Given the description of an element on the screen output the (x, y) to click on. 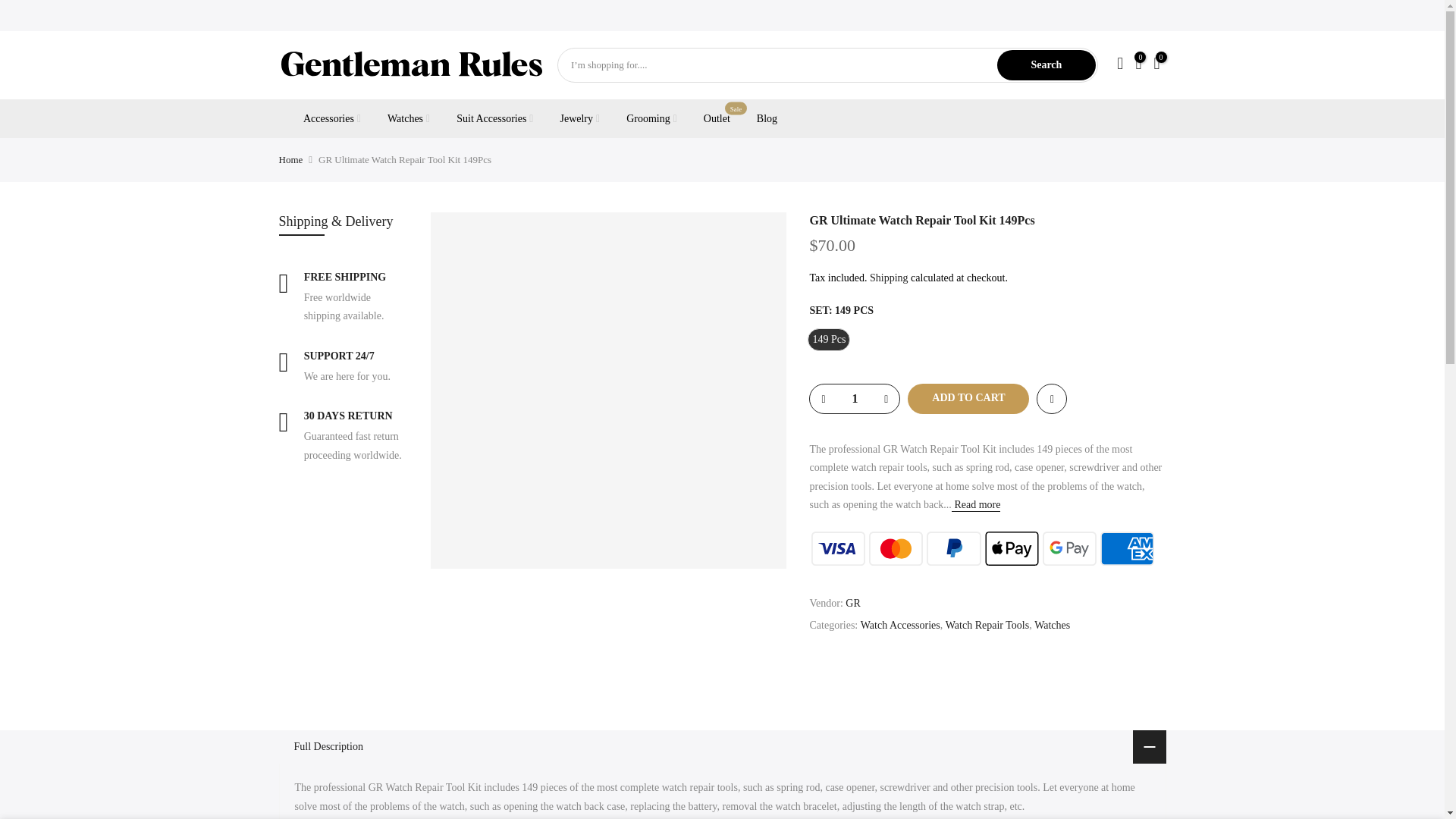
Watches (1051, 625)
ADD TO CART (968, 399)
Jewelry (579, 118)
Watch Repair Tools (986, 625)
Blog (766, 118)
Search (1046, 64)
1 (854, 398)
Watch Accessories (900, 625)
Grooming (651, 118)
Accessories (331, 118)
